Given the description of an element on the screen output the (x, y) to click on. 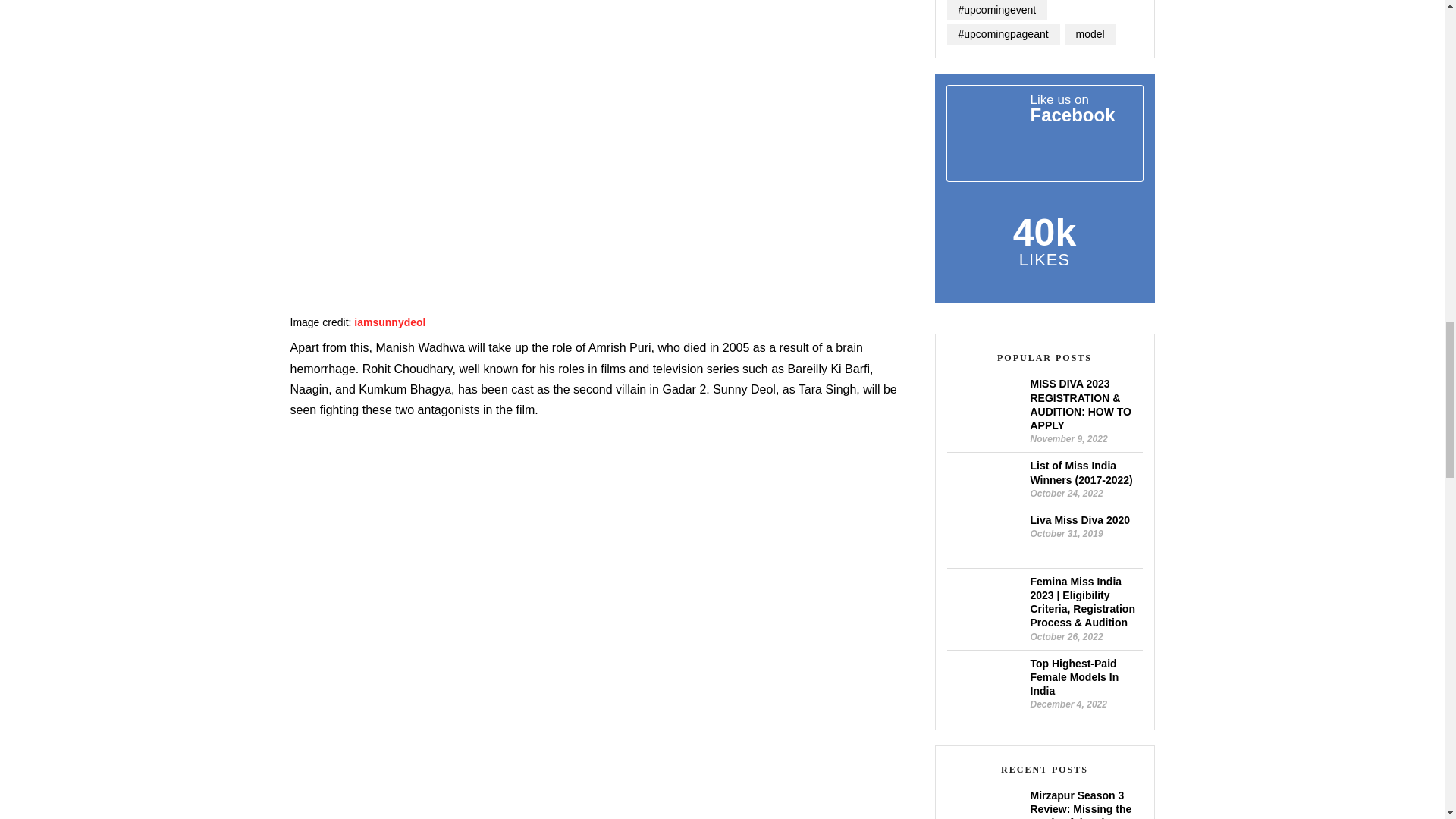
iamsunnydeol (389, 322)
